Given the description of an element on the screen output the (x, y) to click on. 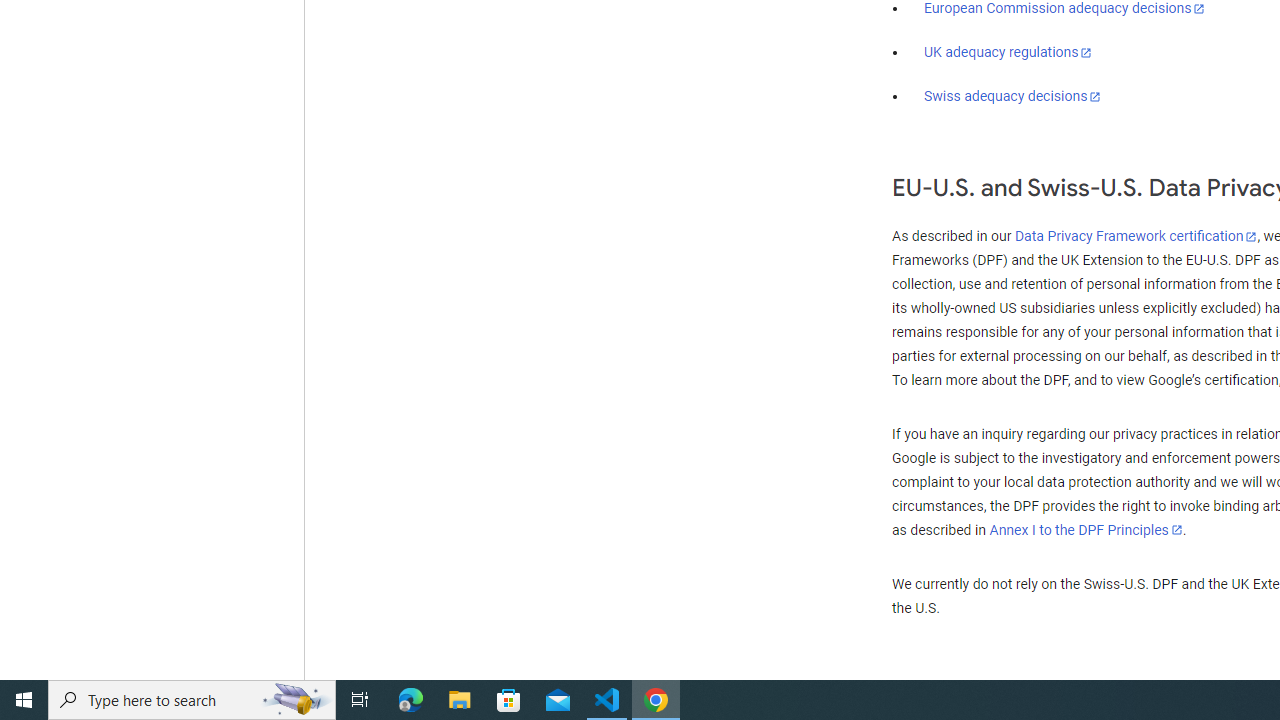
Swiss adequacy decisions (1013, 96)
UK adequacy regulations (1008, 52)
European Commission adequacy decisions (1064, 9)
Annex I to the DPF Principles (1085, 530)
Data Privacy Framework certification (1135, 237)
